Given the description of an element on the screen output the (x, y) to click on. 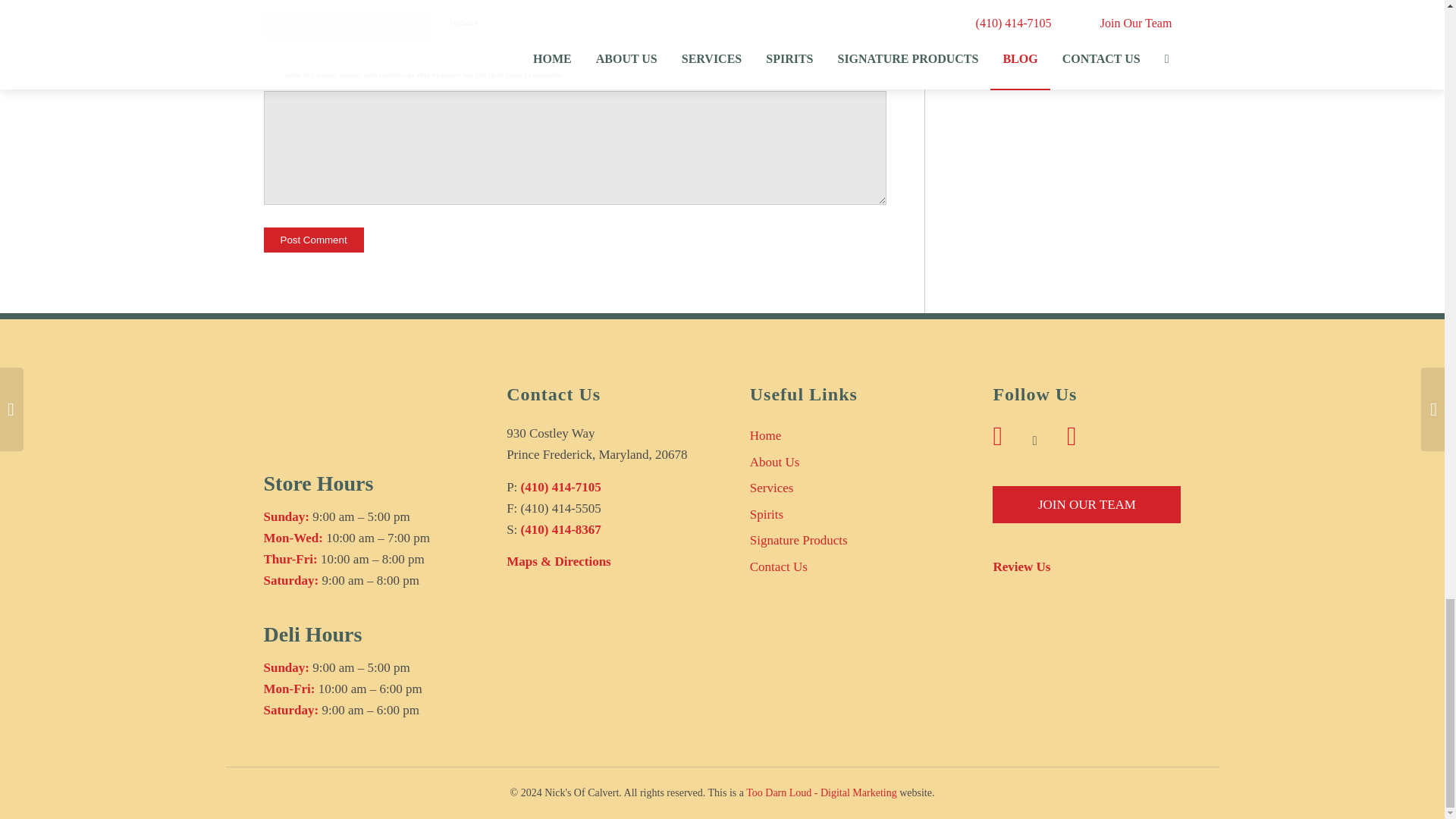
Post Comment (313, 239)
Post Comment (313, 239)
yes (271, 71)
